Given the description of an element on the screen output the (x, y) to click on. 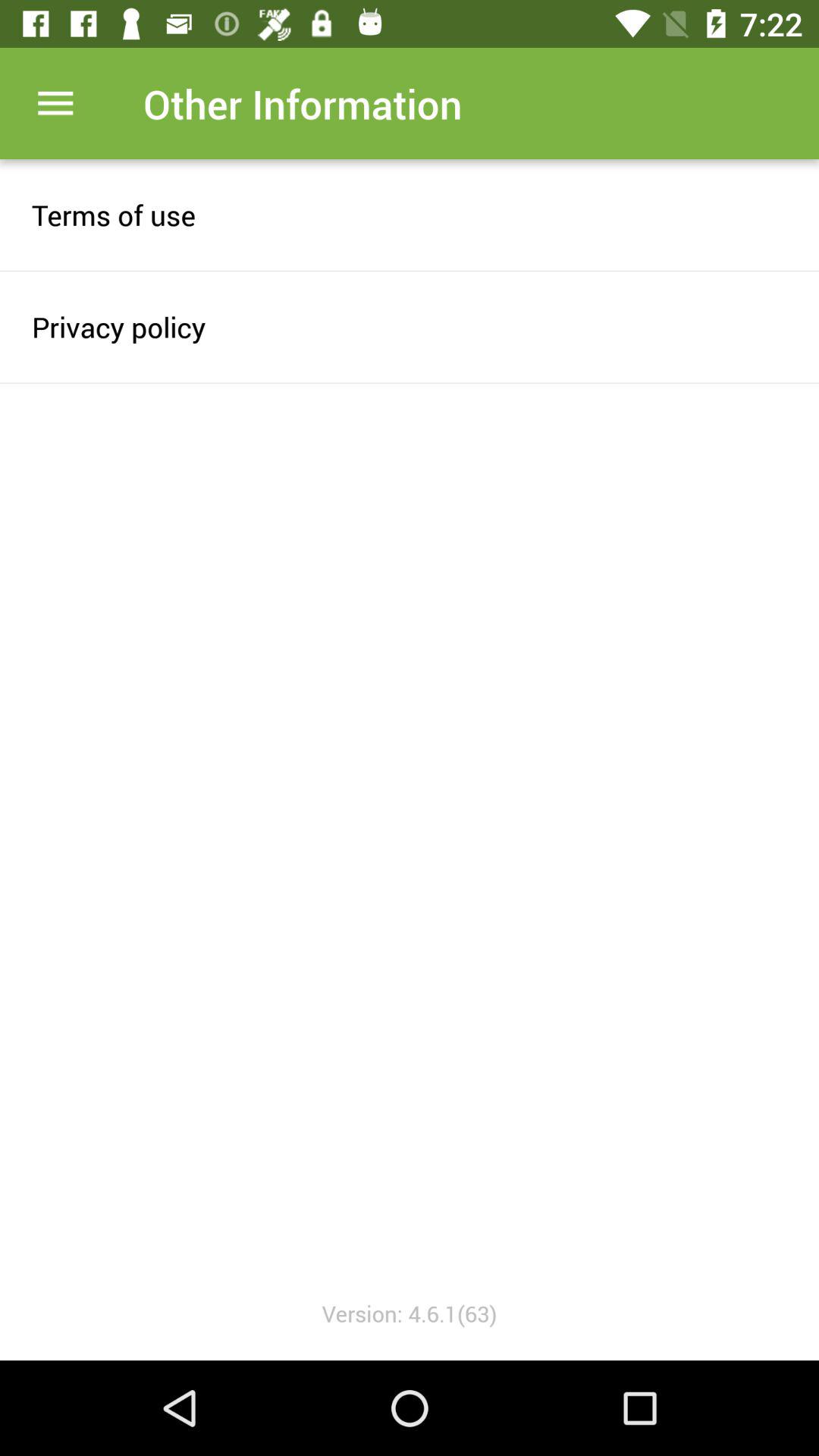
click item above the version 4 6 (409, 326)
